Given the description of an element on the screen output the (x, y) to click on. 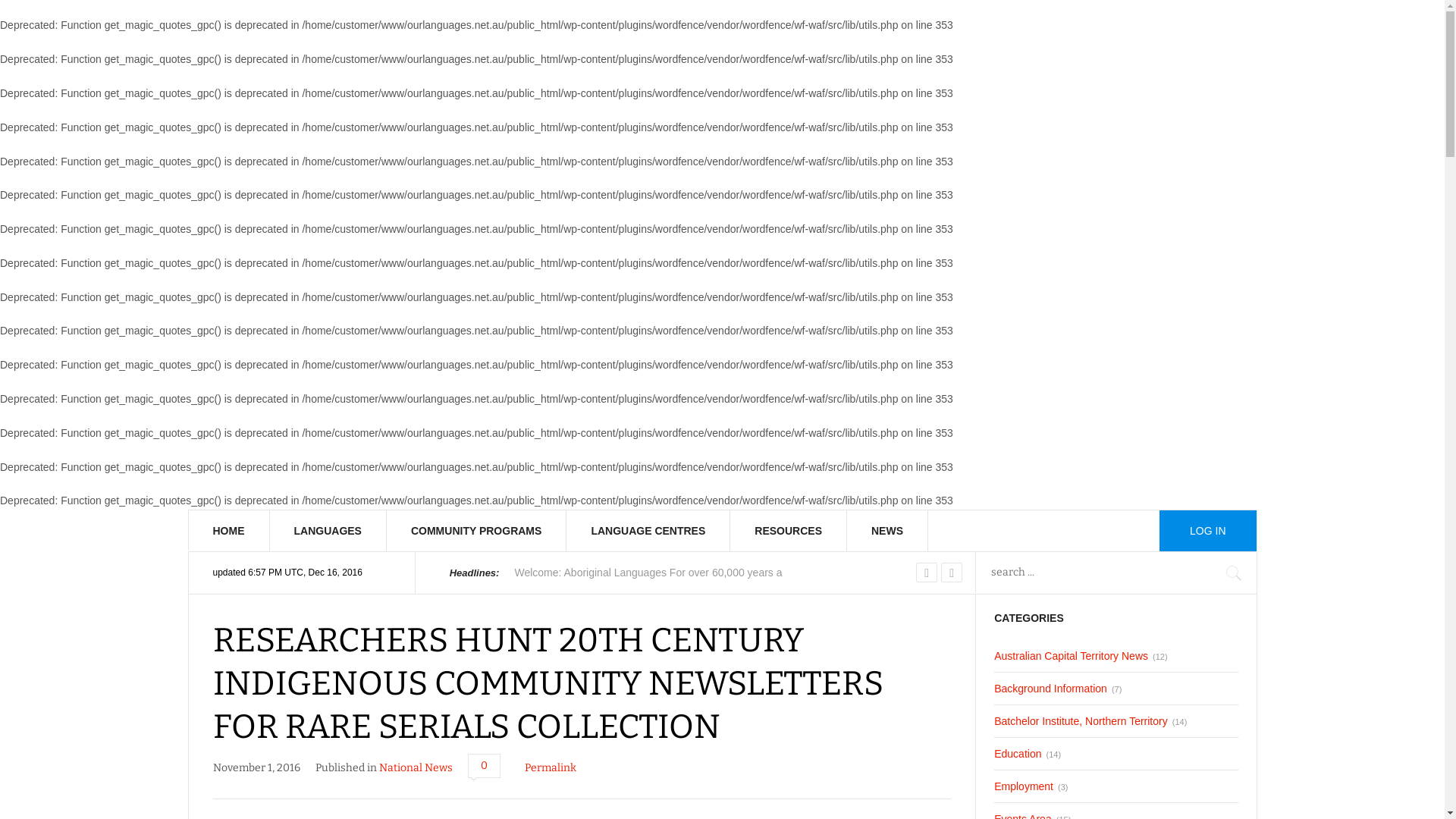
LOG IN Element type: text (1207, 530)
Australian Capital Territory News Element type: text (1071, 655)
HOME Element type: text (228, 530)
Education Element type: text (1017, 753)
Batchelor Institute, Northern Territory Element type: text (1080, 721)
LANGUAGE CENTRES Element type: text (648, 530)
NEWS Element type: text (887, 530)
LANGUAGES Element type: text (327, 530)
Permalink Element type: text (550, 767)
Employment Element type: text (1023, 786)
Search Element type: text (29, 14)
Background Information Element type: text (1050, 688)
RESOURCES Element type: text (788, 530)
National News Element type: text (415, 767)
COMMUNITY PROGRAMS Element type: text (476, 530)
Welcome: Aboriginal Languages For over 60,000 years a Element type: text (647, 572)
